Given the description of an element on the screen output the (x, y) to click on. 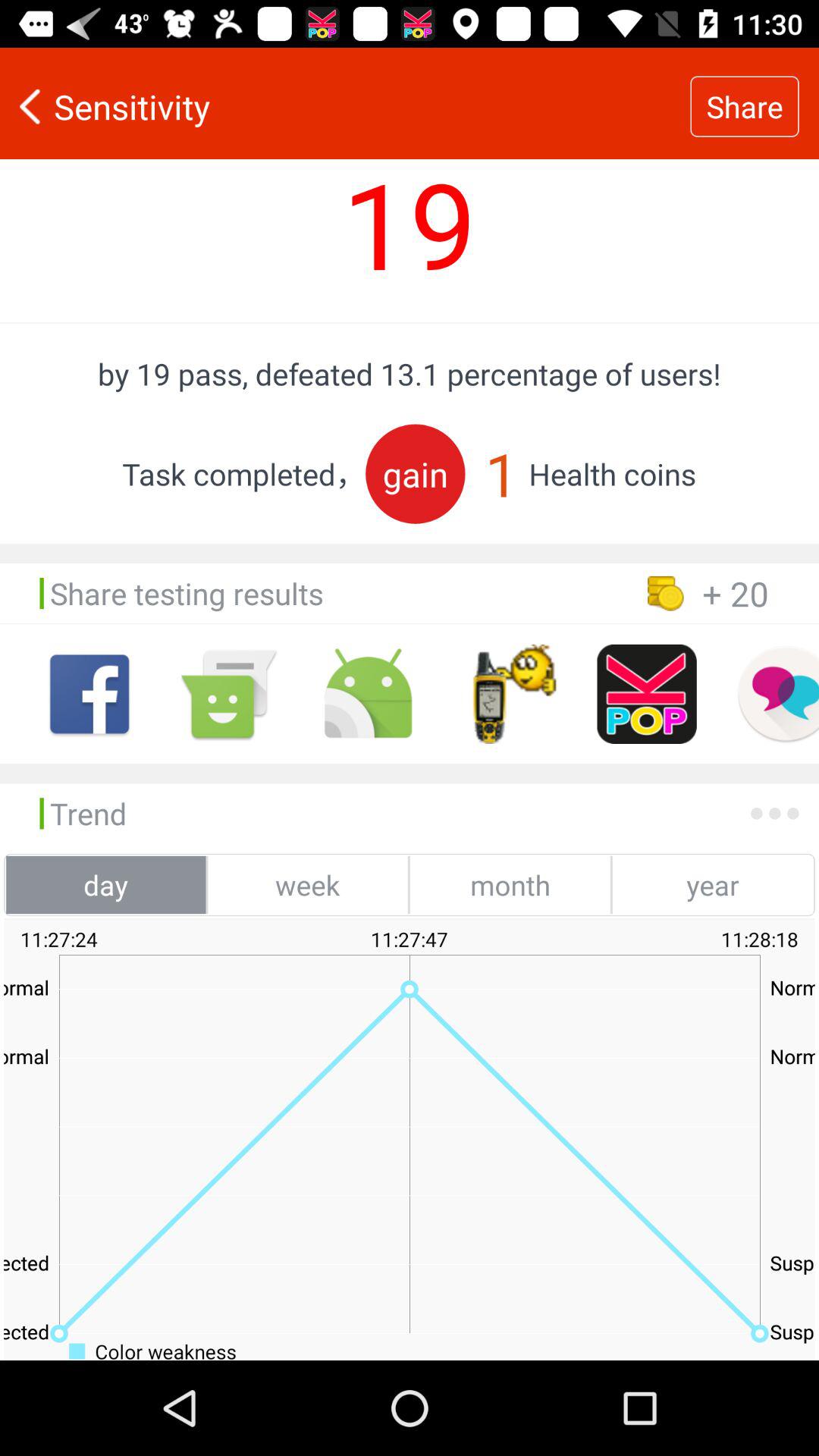
go to chat (777, 693)
